Given the description of an element on the screen output the (x, y) to click on. 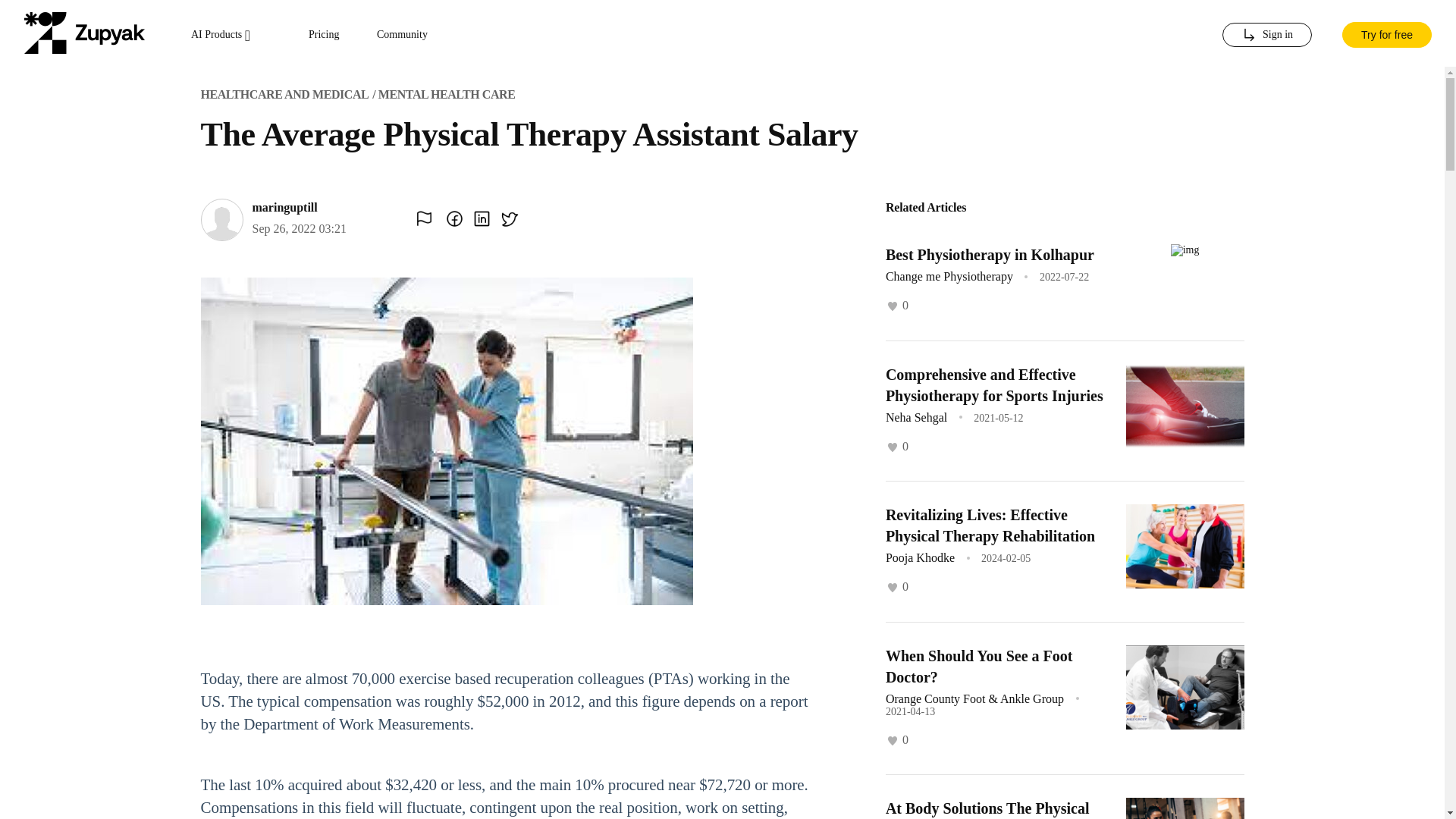
When Should You See a Foot Doctor? (979, 666)
Pricing (323, 34)
Best Physiotherapy in Kolhapur (989, 254)
HEALTHCARE AND MEDICAL (284, 93)
MENTAL HEALTH CARE (446, 93)
Community (402, 34)
Try for free (1386, 33)
 Sign in (1267, 34)
